Given the description of an element on the screen output the (x, y) to click on. 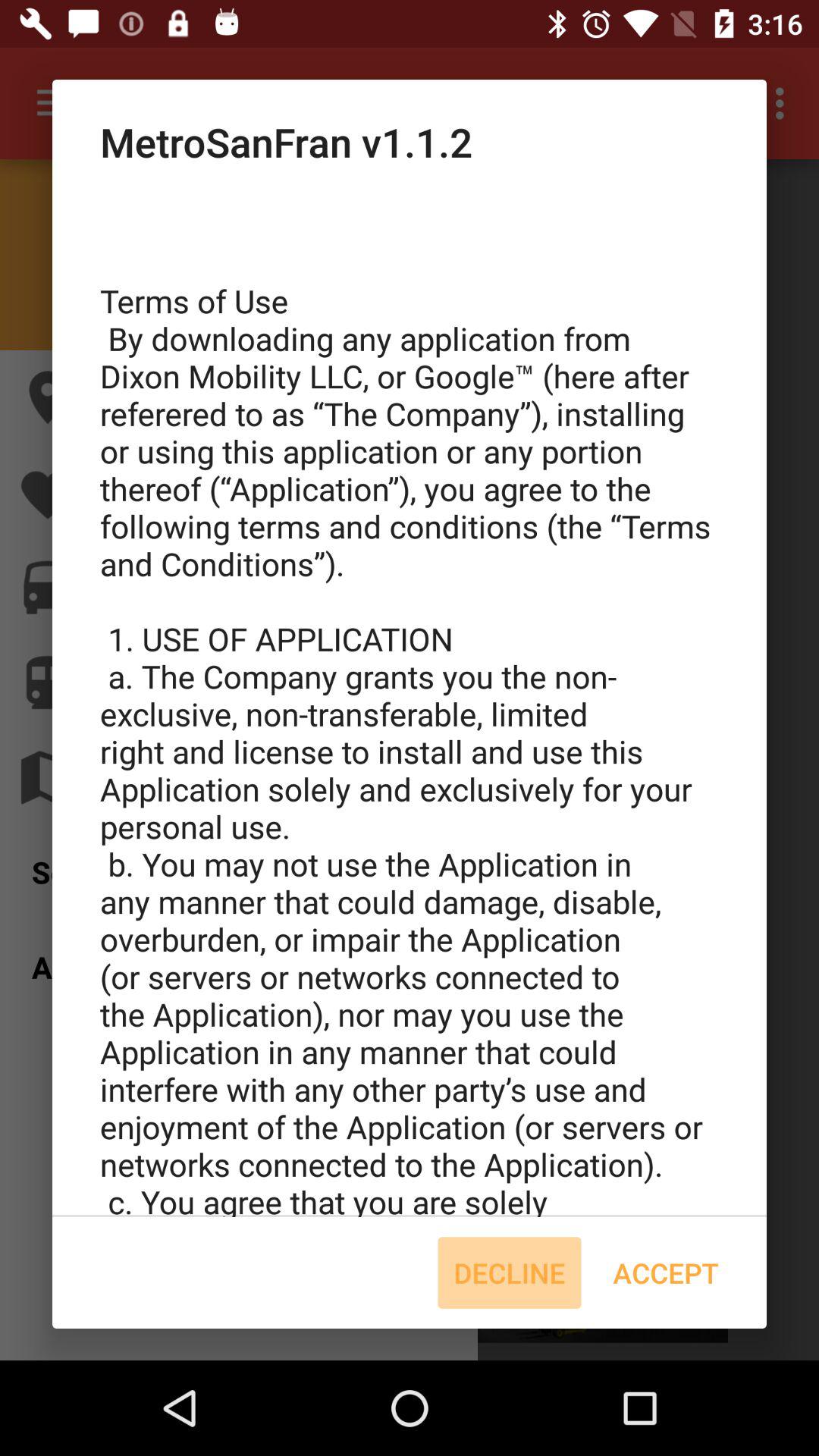
open the decline (509, 1272)
